Given the description of an element on the screen output the (x, y) to click on. 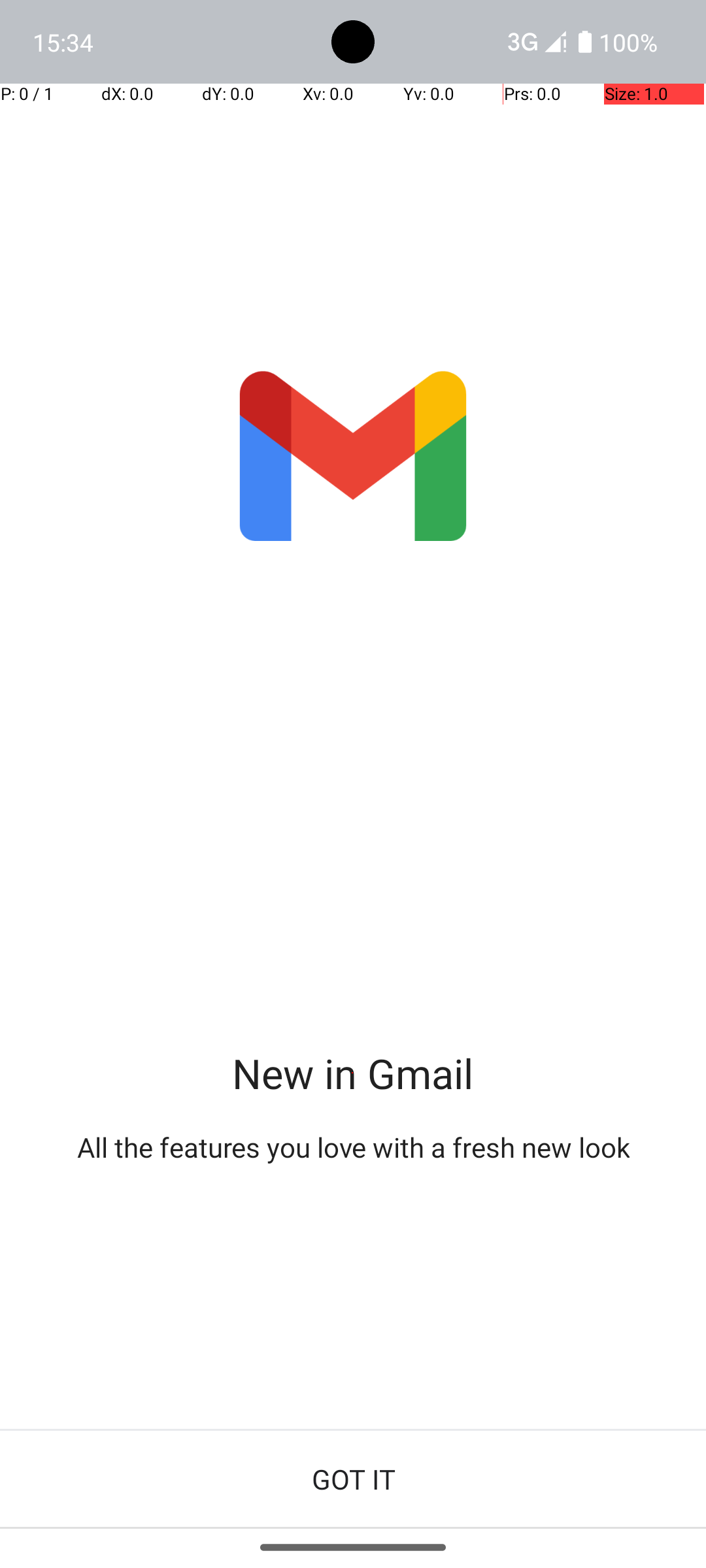
GOT IT Element type: android.widget.TextView (353, 1478)
New in Gmail Element type: android.widget.TextView (352, 1072)
All the features you love with a fresh new look Element type: android.widget.TextView (352, 1146)
